Given the description of an element on the screen output the (x, y) to click on. 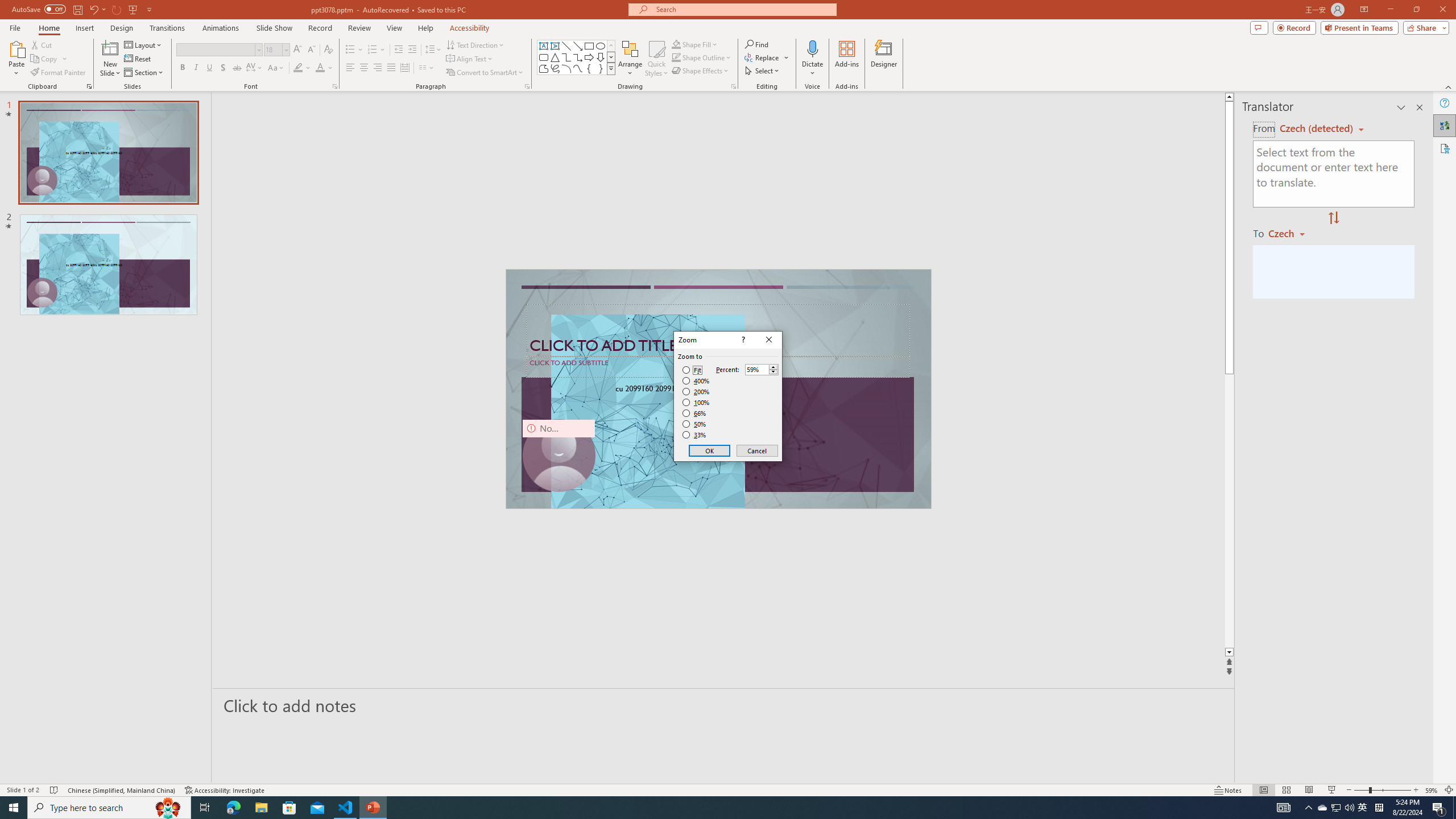
Zoom 59% (1431, 790)
Context help (742, 339)
